Given the description of an element on the screen output the (x, y) to click on. 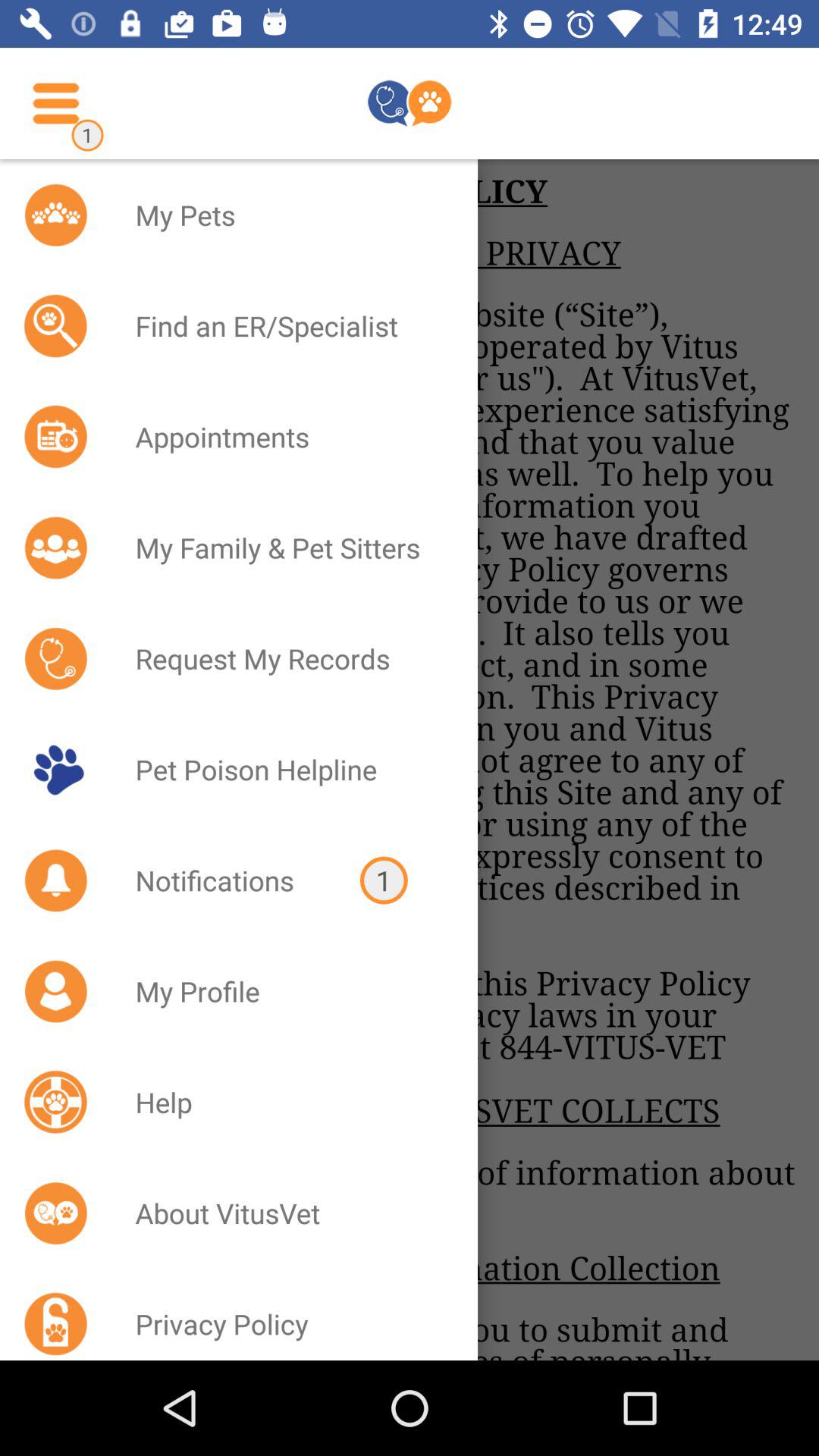
swipe to pet poison helpline (286, 769)
